Given the description of an element on the screen output the (x, y) to click on. 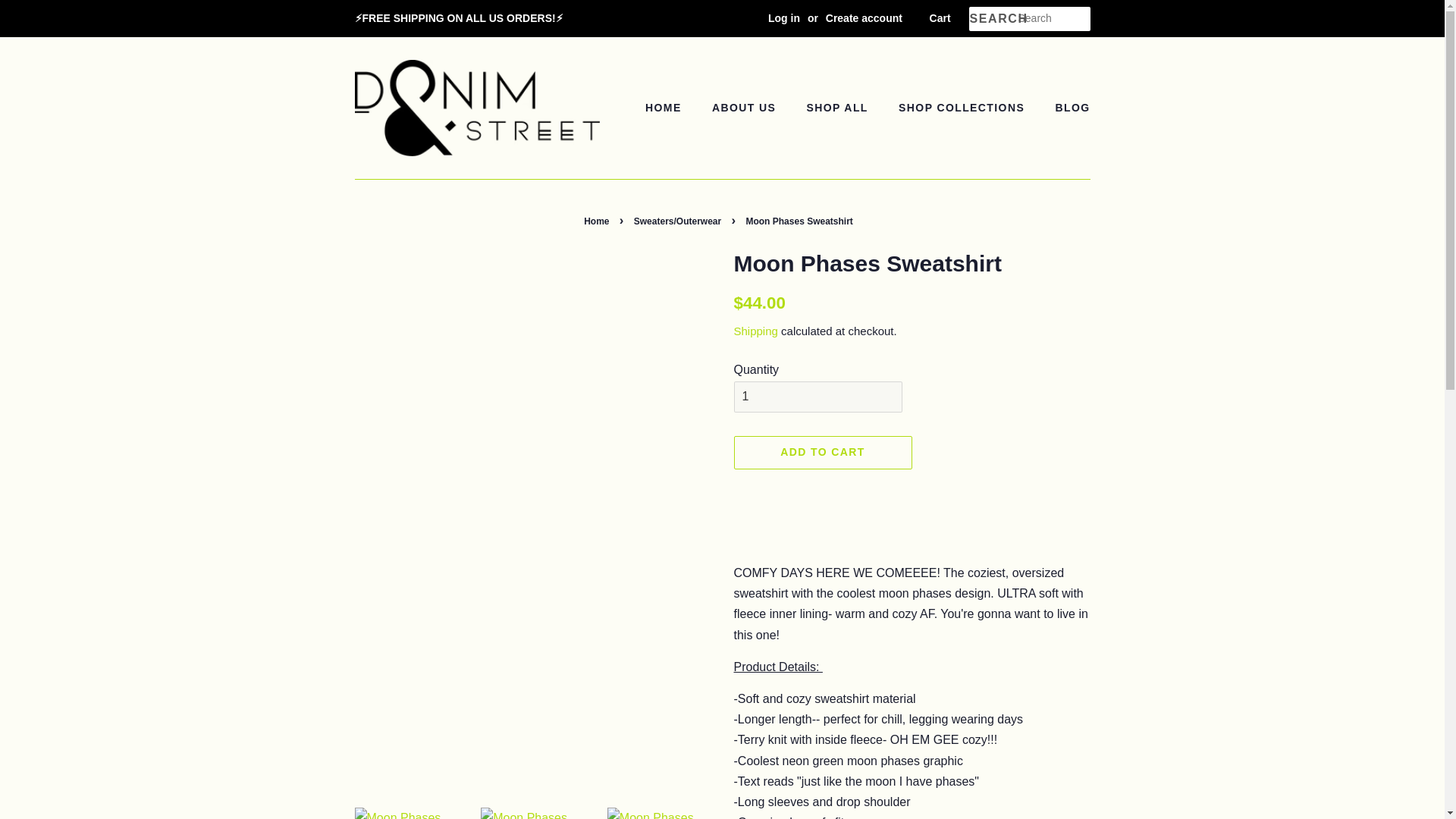
ABOUT US (745, 108)
Create account (863, 18)
SEARCH (993, 18)
1 (817, 396)
Log in (783, 18)
HOME (671, 108)
SHOP ALL (838, 108)
Back to the frontpage (597, 221)
Cart (940, 18)
